Given the description of an element on the screen output the (x, y) to click on. 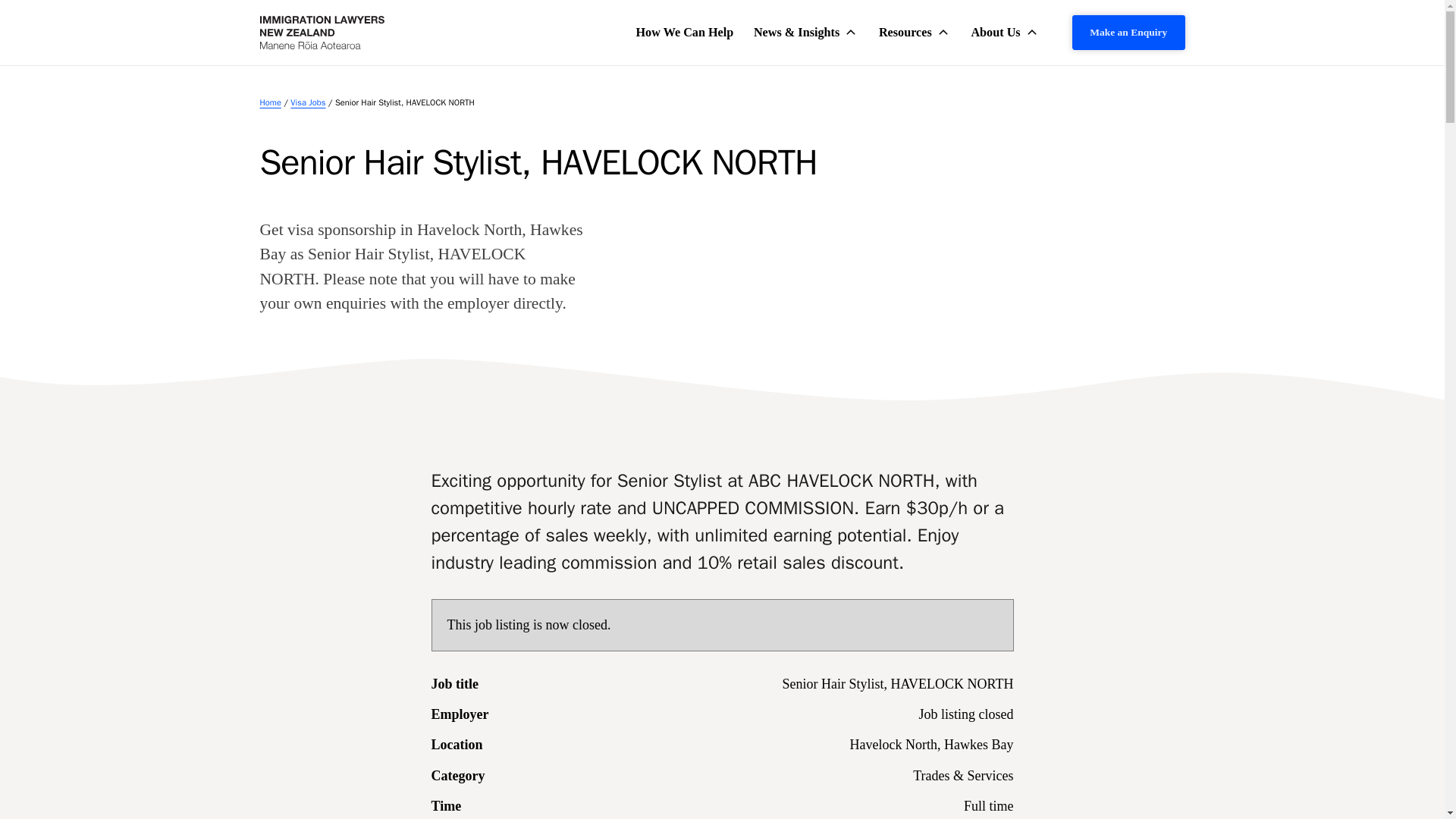
About Us (1004, 32)
How We Can Help (684, 32)
Resources (914, 32)
